Given the description of an element on the screen output the (x, y) to click on. 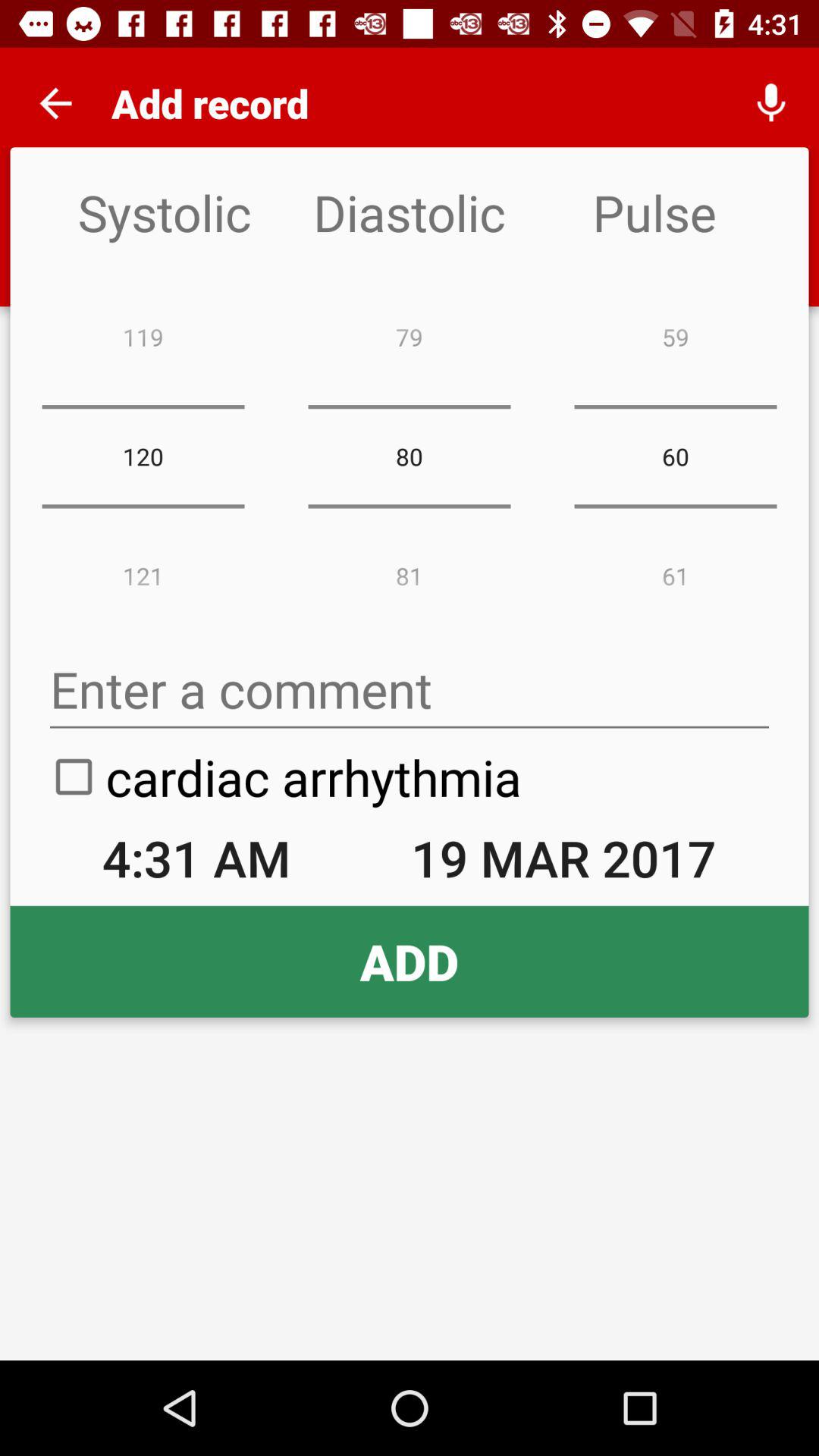
type comment (409, 689)
